Given the description of an element on the screen output the (x, y) to click on. 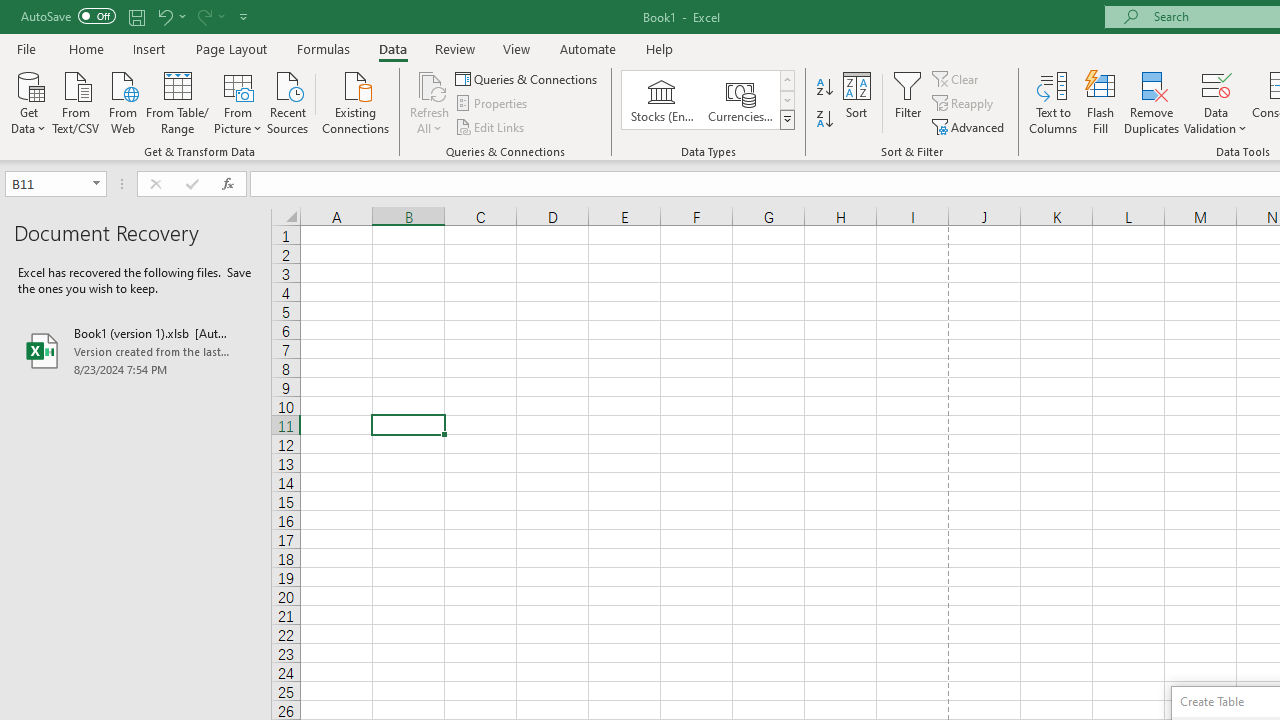
Stocks (English) (662, 100)
From Web (122, 101)
From Table/Range (177, 101)
Recent Sources (287, 101)
Get Data (28, 101)
AutomationID: ConvertToLinkedEntity (708, 99)
Data Types (786, 120)
